Given the description of an element on the screen output the (x, y) to click on. 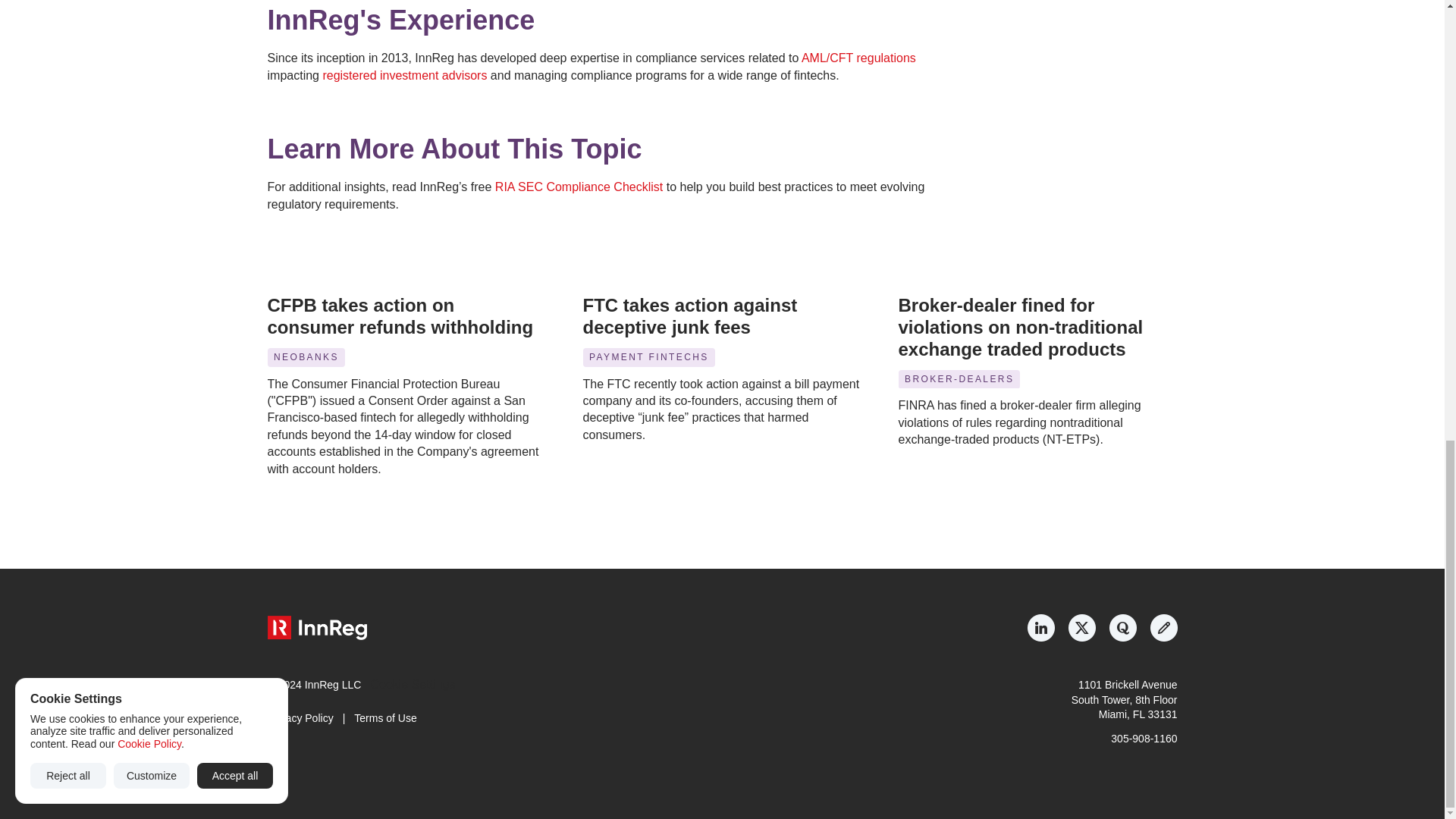
RIA SEC Compliance Checklist (578, 186)
PAYMENT FINTECHS (648, 357)
FTC takes action against deceptive junk fees (692, 315)
Cookie Settings (411, 684)
NEOBANKS (304, 357)
Terms of Use (384, 717)
Privacy Policy (299, 717)
BROKER-DEALERS (958, 379)
305-908-1160 (1143, 738)
